Given the description of an element on the screen output the (x, y) to click on. 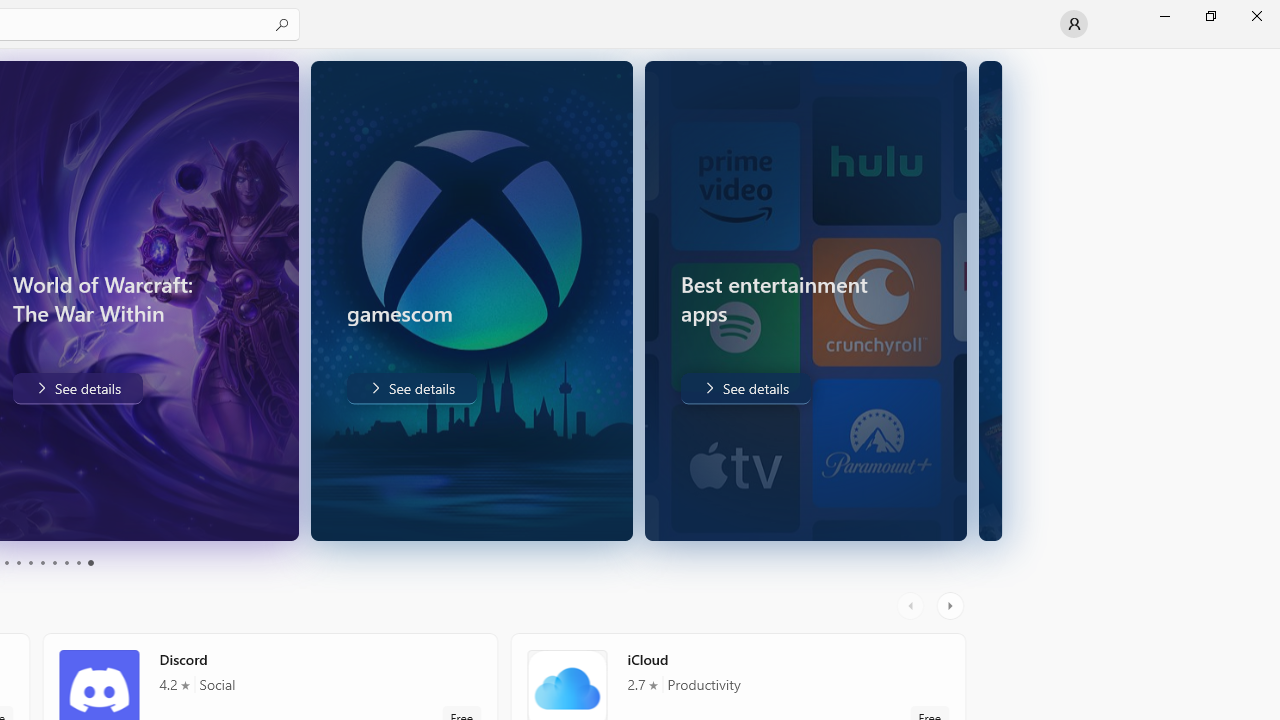
AutomationID: LeftScrollButton (913, 606)
User profile (1073, 24)
